Given the description of an element on the screen output the (x, y) to click on. 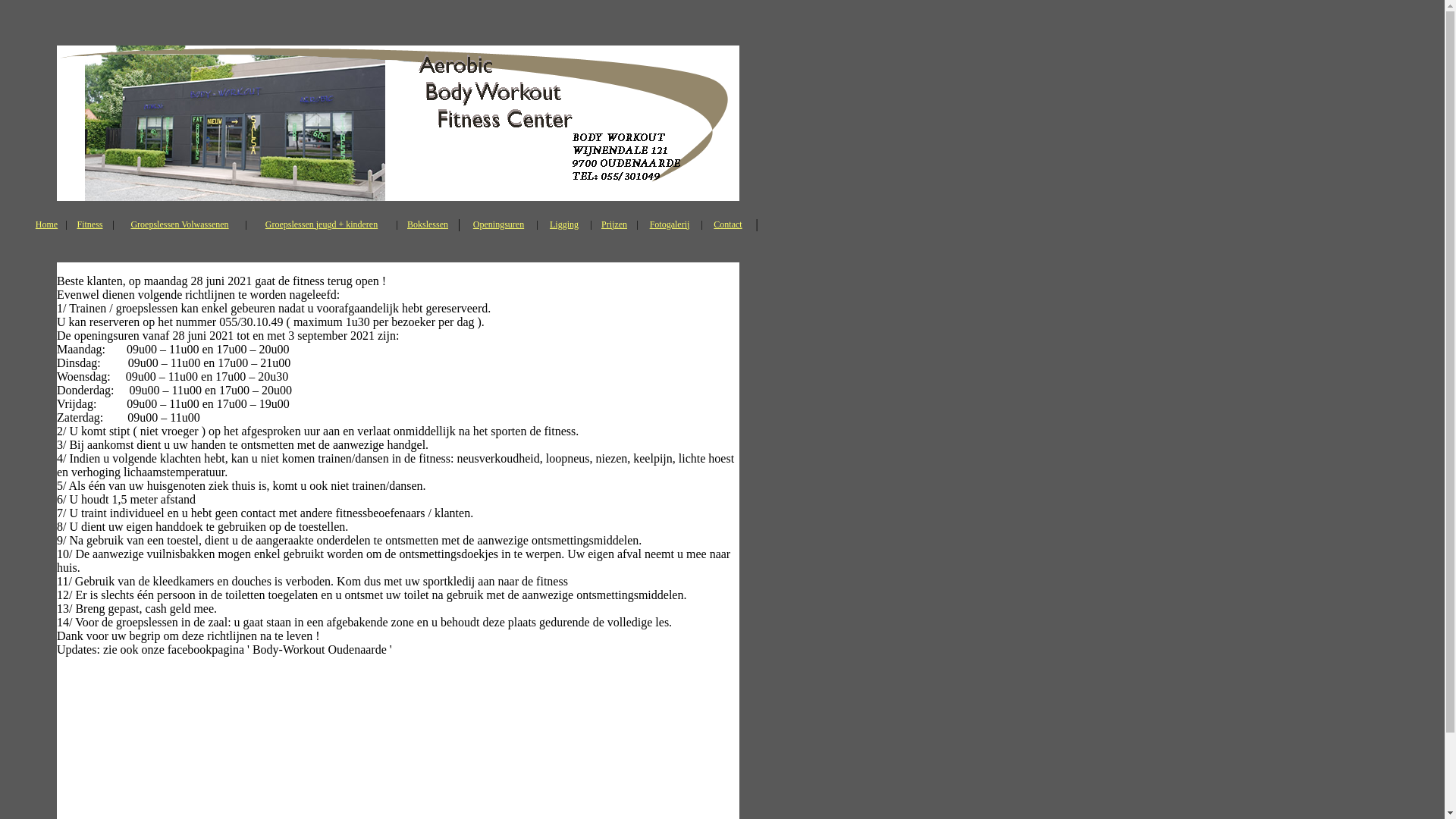
Bokslessen Element type: text (427, 223)
Openingsuren Element type: text (498, 223)
Ligging Element type: text (563, 223)
Home Element type: text (46, 223)
Prijzen Element type: text (614, 223)
Fitness Element type: text (89, 223)
Groepslessen Volwassenen Element type: text (179, 223)
Fotogalerij Element type: text (669, 223)
Groepslessen jeugd + kinderen Element type: text (321, 223)
Contact Element type: text (727, 223)
